Given the description of an element on the screen output the (x, y) to click on. 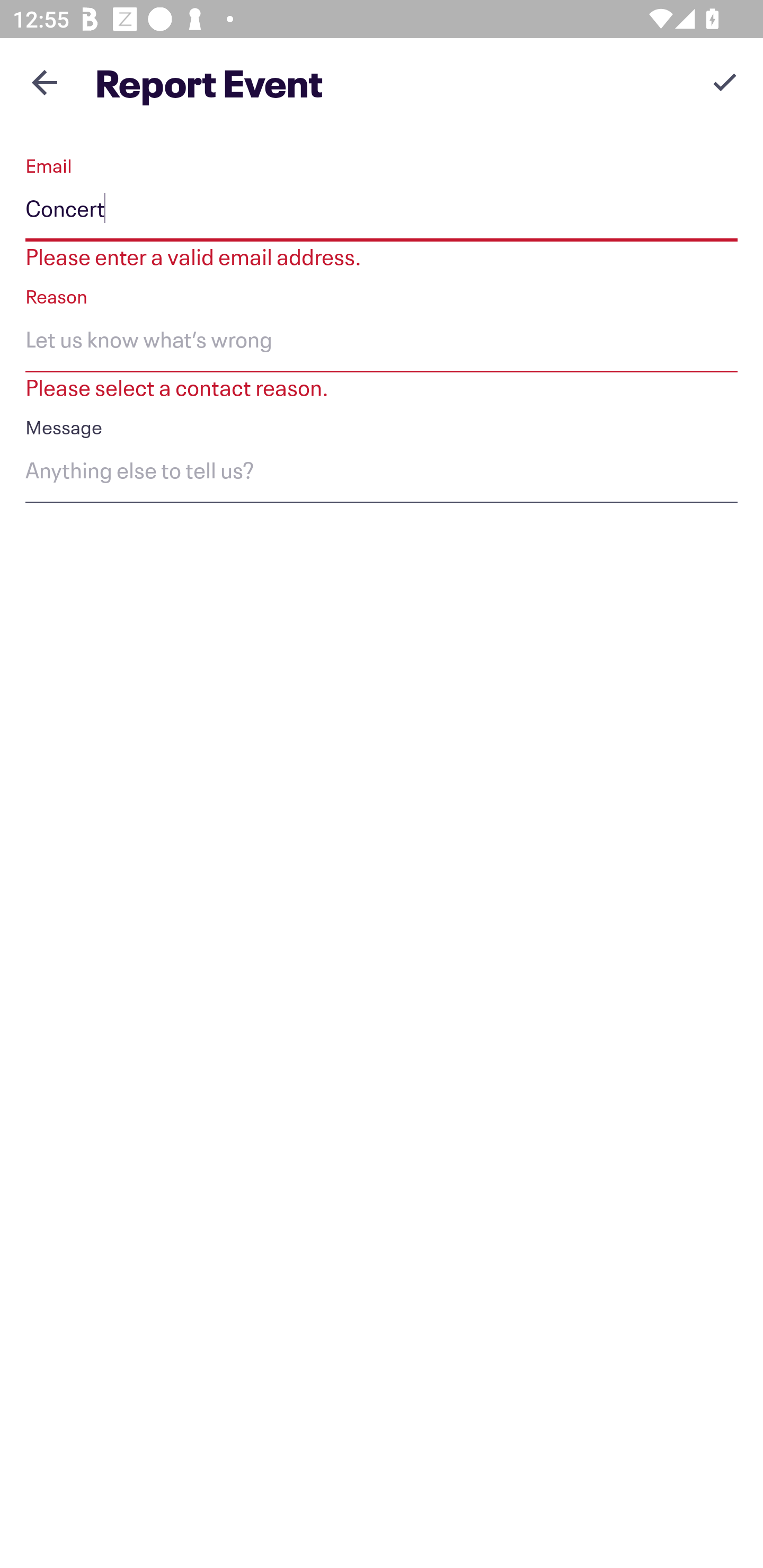
Navigate up (44, 82)
Save (724, 81)
Concert (381, 211)
Let us know what’s wrong (381, 342)
Anything else to tell us? (381, 473)
